Given the description of an element on the screen output the (x, y) to click on. 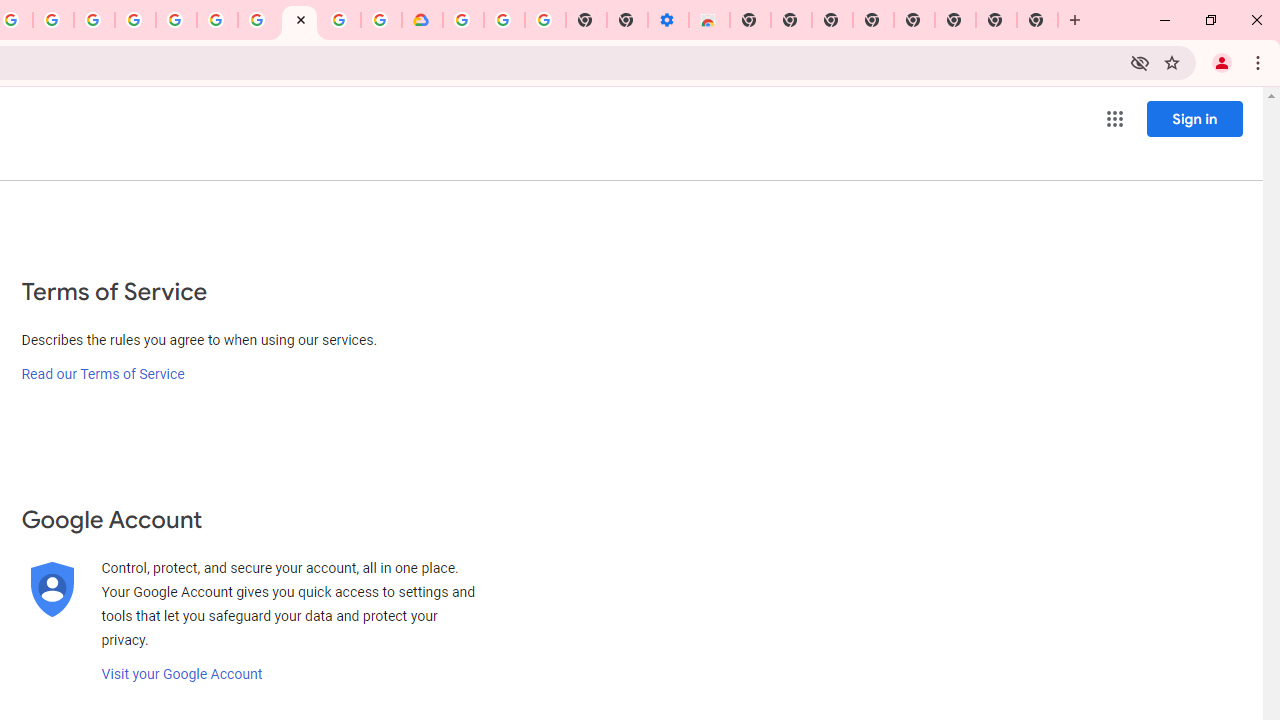
Settings - Accessibility (667, 20)
New Tab (1037, 20)
Turn cookies on or off - Computer - Google Account Help (544, 20)
Chrome Web Store - Accessibility extensions (708, 20)
New Tab (749, 20)
Ad Settings (135, 20)
Browse the Google Chrome Community - Google Chrome Community (381, 20)
